Given the description of an element on the screen output the (x, y) to click on. 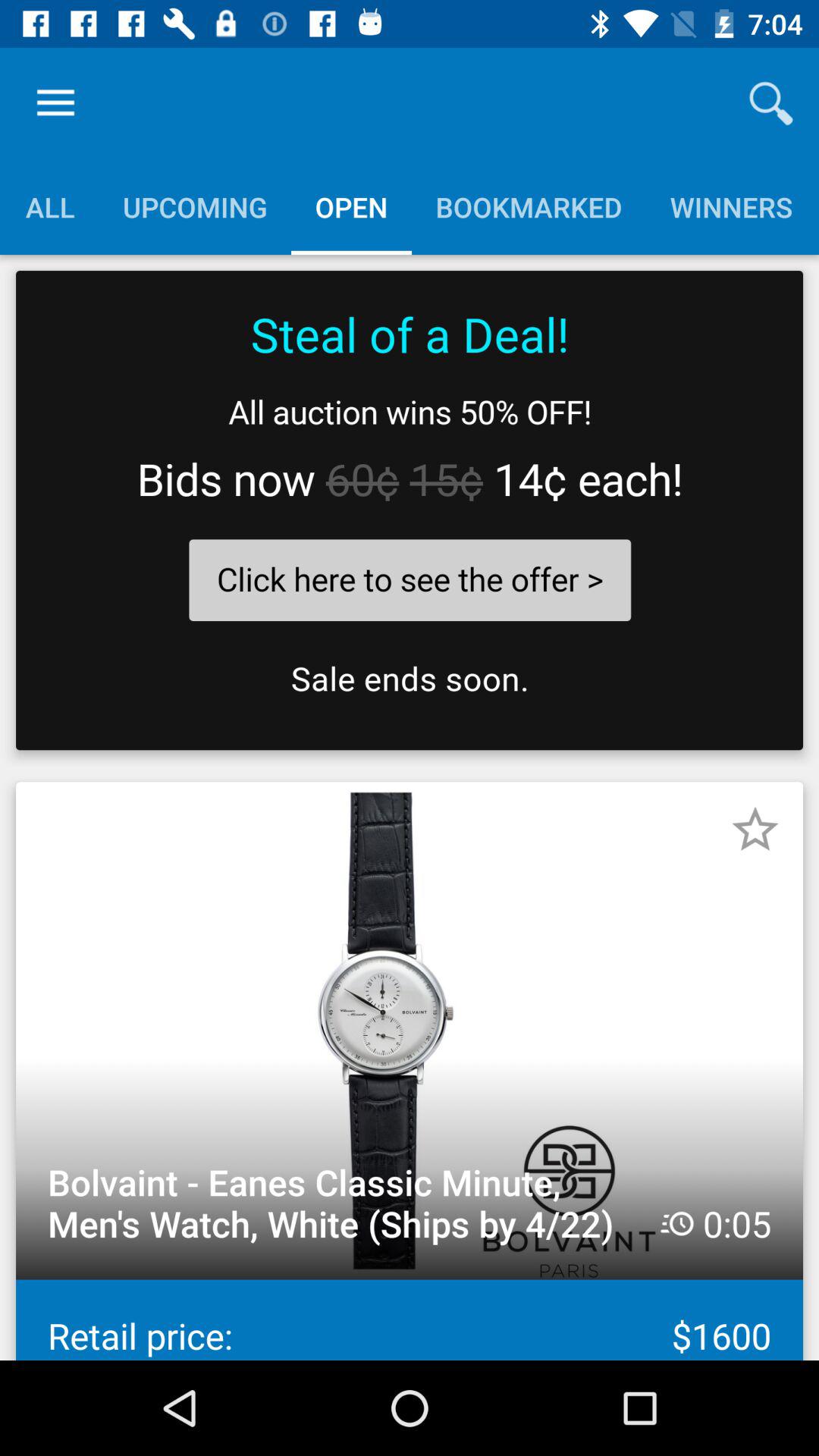
go to offer (409, 510)
